Given the description of an element on the screen output the (x, y) to click on. 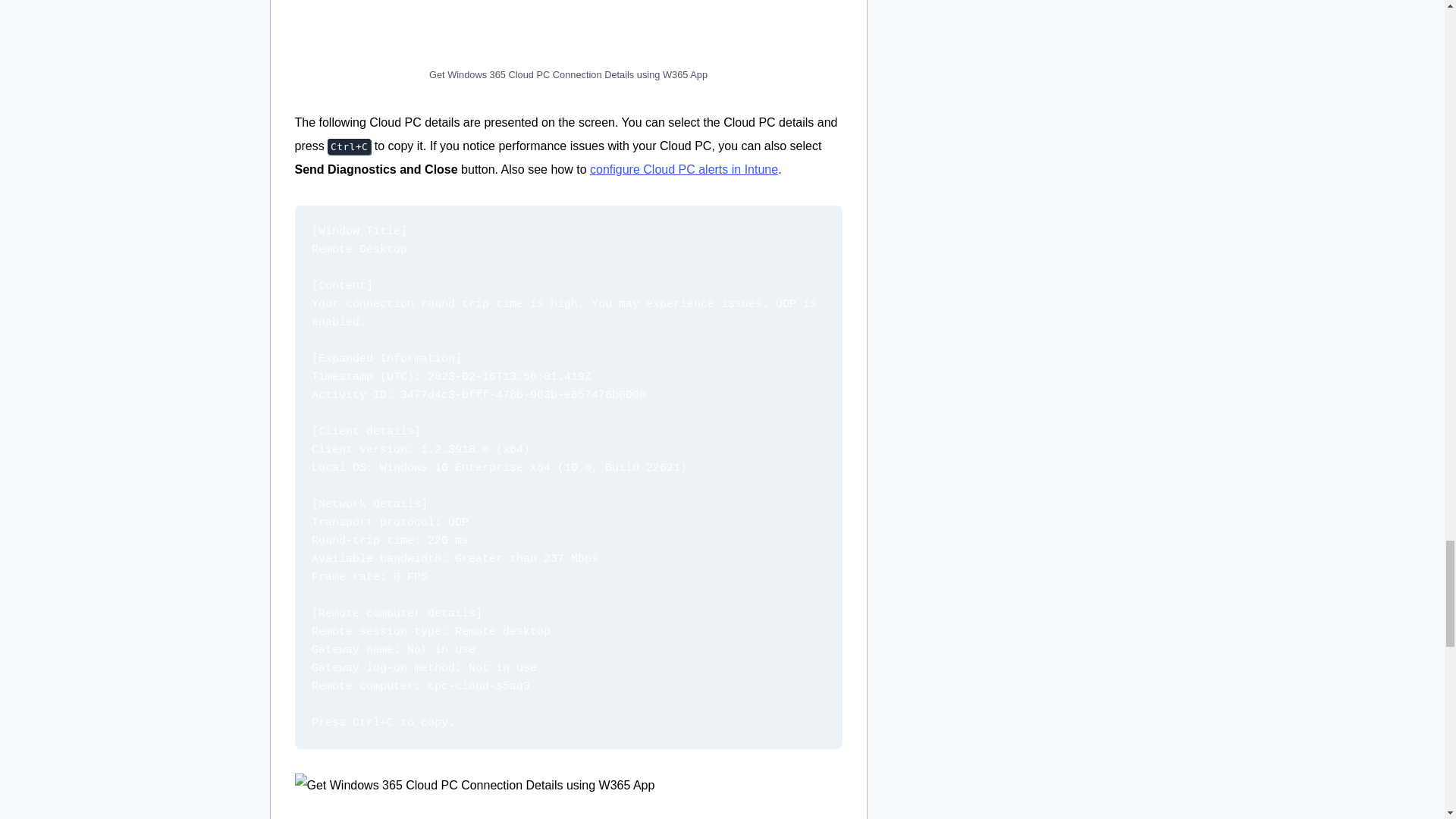
2 Ways to Get Windows 365 Cloud PC Connection Details 4 (567, 29)
2 Ways to Get Windows 365 Cloud PC Connection Details 5 (567, 796)
configure Cloud PC alerts in Intune (683, 169)
